Given the description of an element on the screen output the (x, y) to click on. 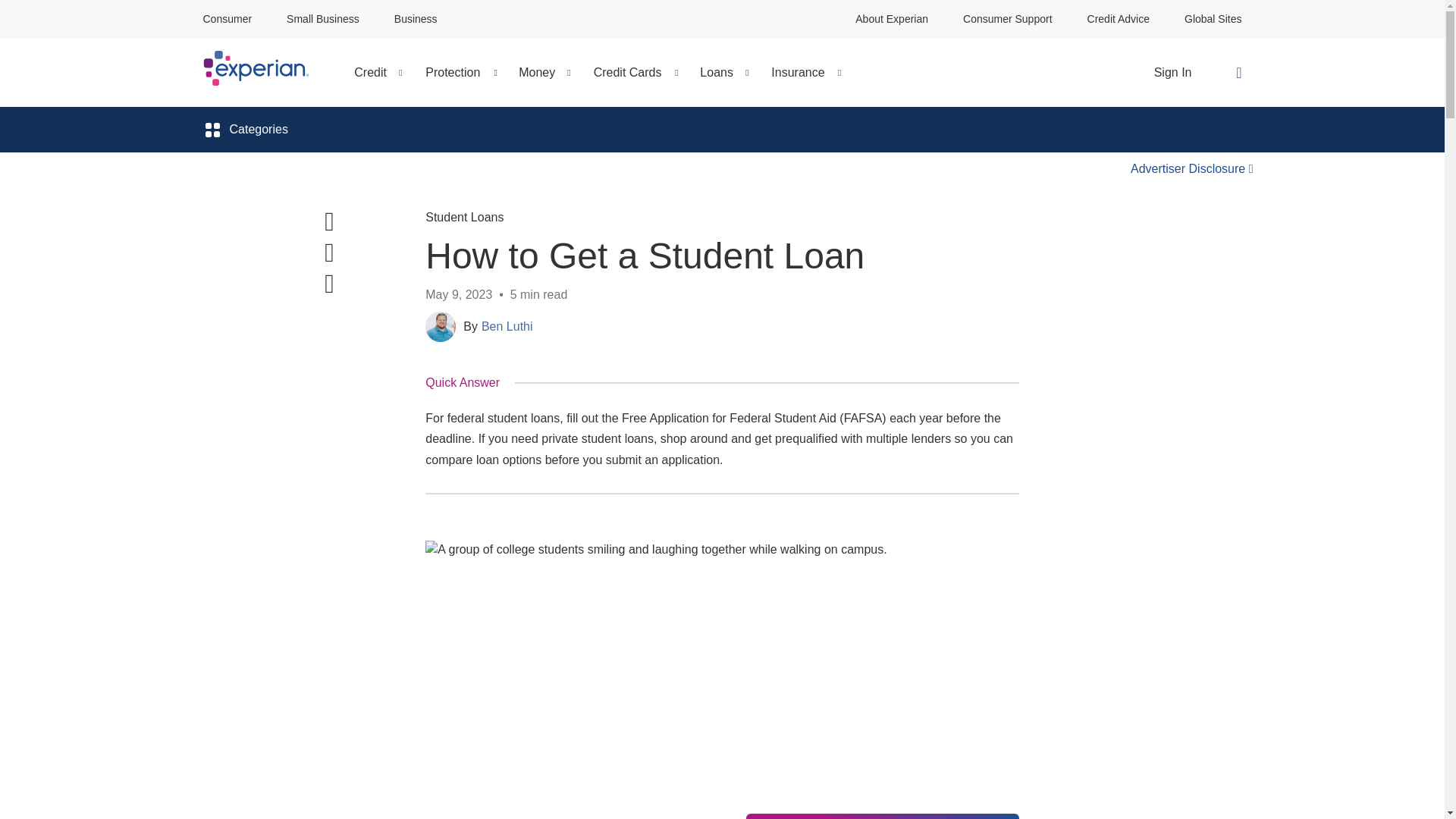
Loans (716, 72)
Protection (453, 72)
Insurance (798, 72)
View all posts by Ben Luthi (506, 326)
Money (536, 72)
Consumer Support (1007, 19)
Loans (716, 72)
Credit (369, 72)
Insurance (798, 72)
Business (416, 19)
About Experian (892, 19)
Protection (453, 72)
Sign In (1173, 72)
Small Business (322, 19)
Credit Cards (627, 72)
